Given the description of an element on the screen output the (x, y) to click on. 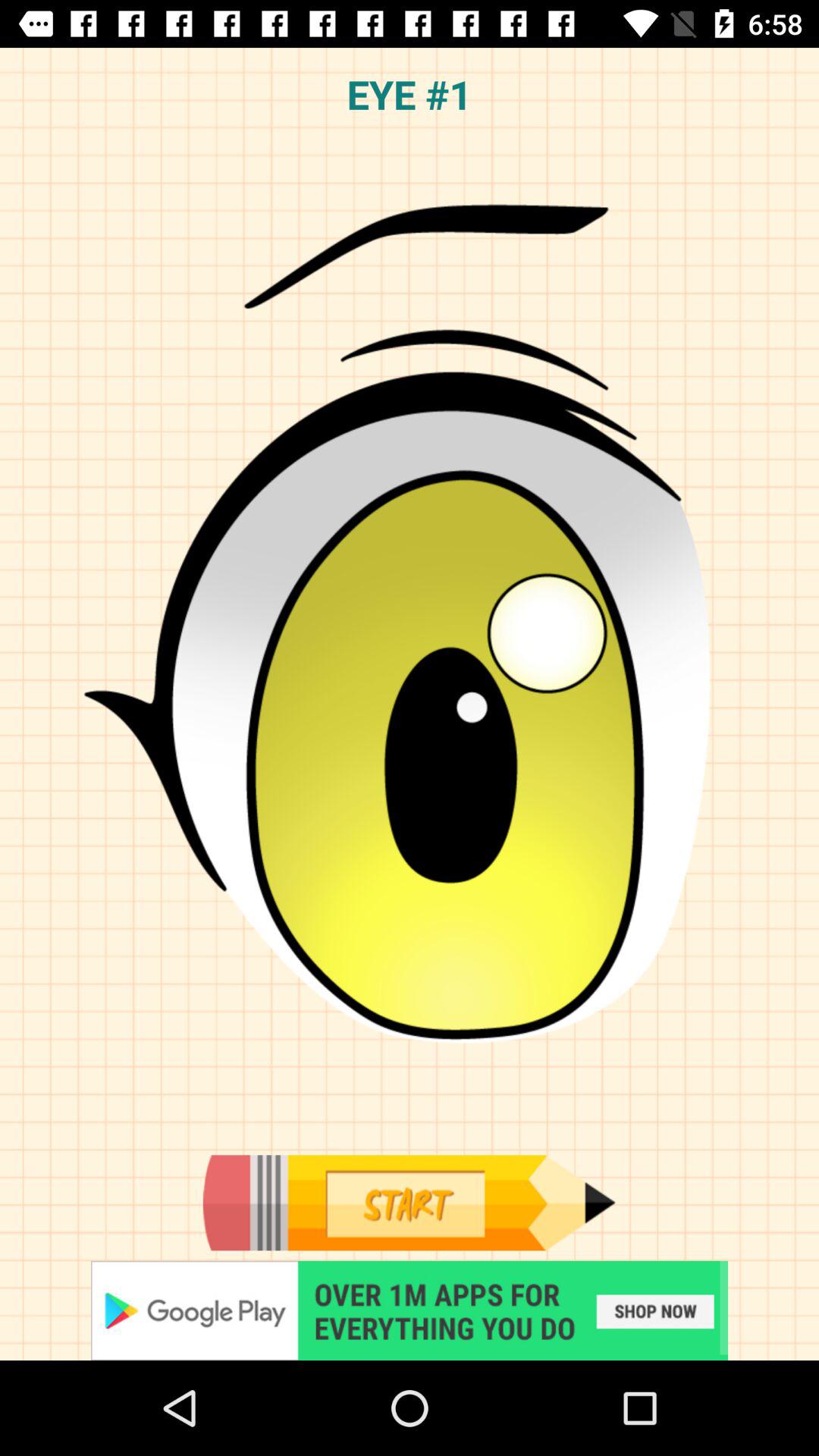
go to start putturn (409, 1310)
